Given the description of an element on the screen output the (x, y) to click on. 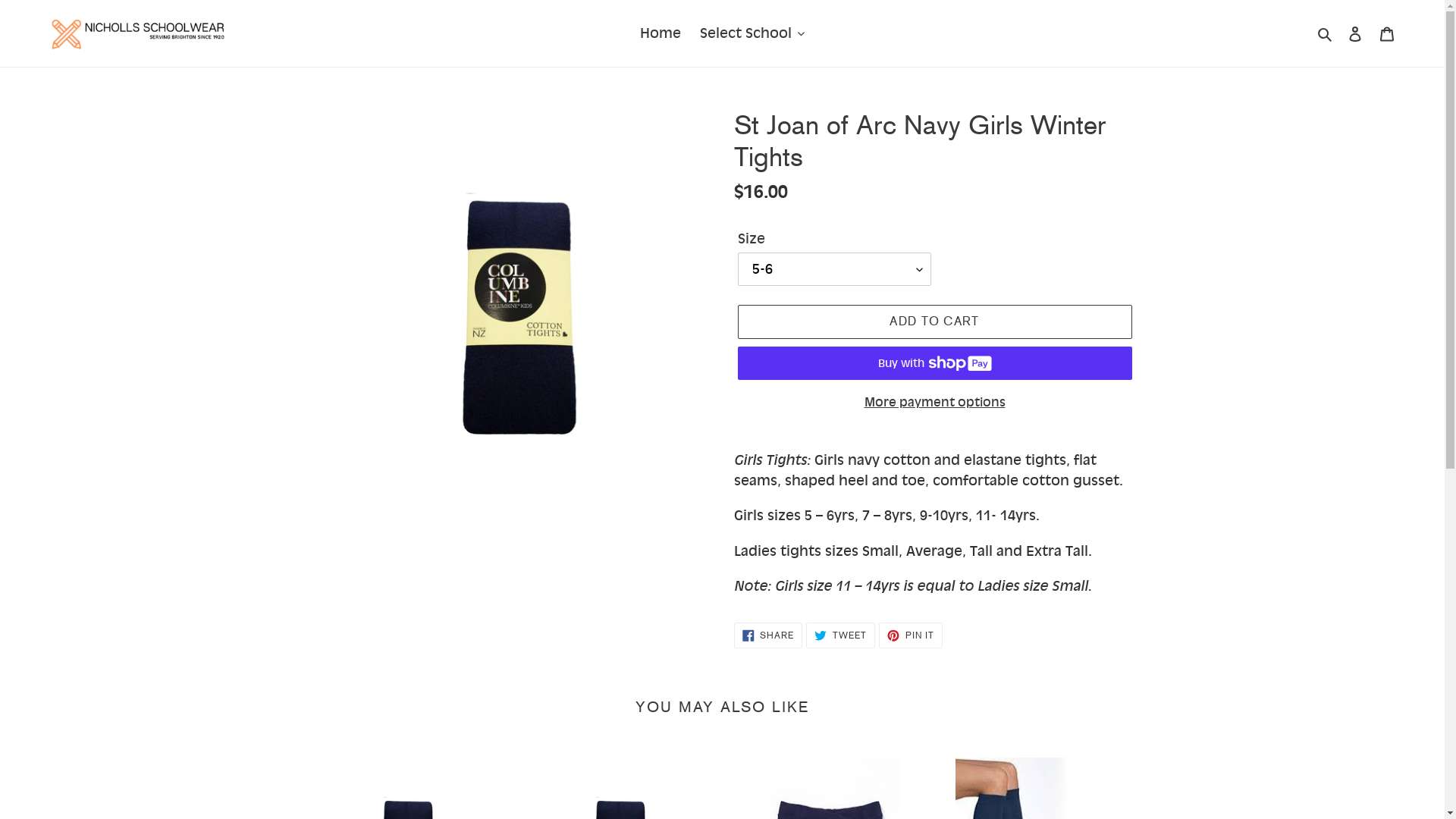
More payment options Element type: text (934, 401)
Select School Element type: text (752, 32)
TWEET
TWEET ON TWITTER Element type: text (840, 635)
PIN IT
PIN ON PINTEREST Element type: text (910, 635)
Log in Element type: text (1355, 32)
ADD TO CART Element type: text (934, 321)
Cart Element type: text (1386, 32)
Home Element type: text (660, 32)
Search Element type: text (1325, 32)
SHARE
SHARE ON FACEBOOK Element type: text (768, 635)
